Given the description of an element on the screen output the (x, y) to click on. 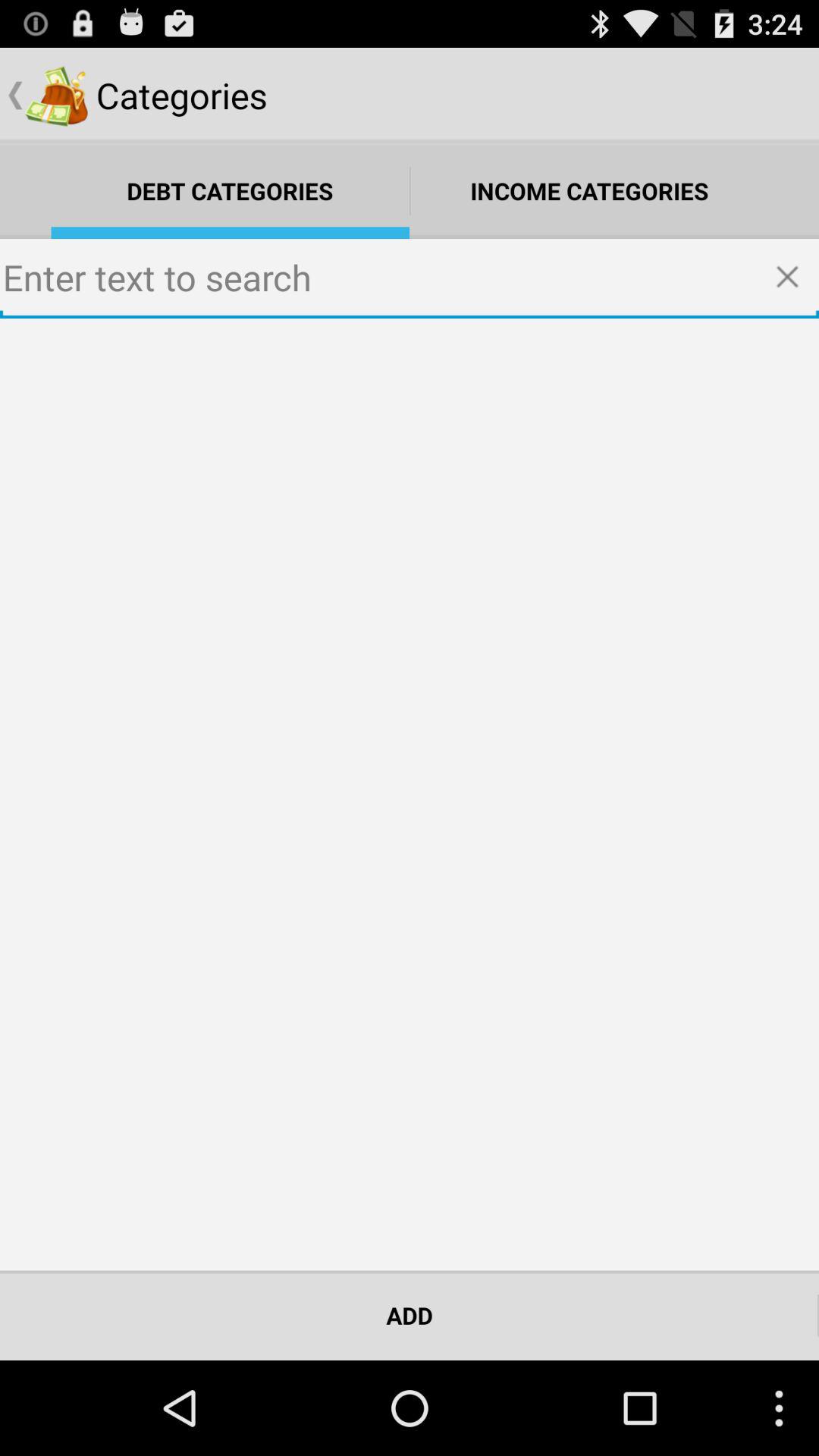
clear the search text (792, 278)
